Given the description of an element on the screen output the (x, y) to click on. 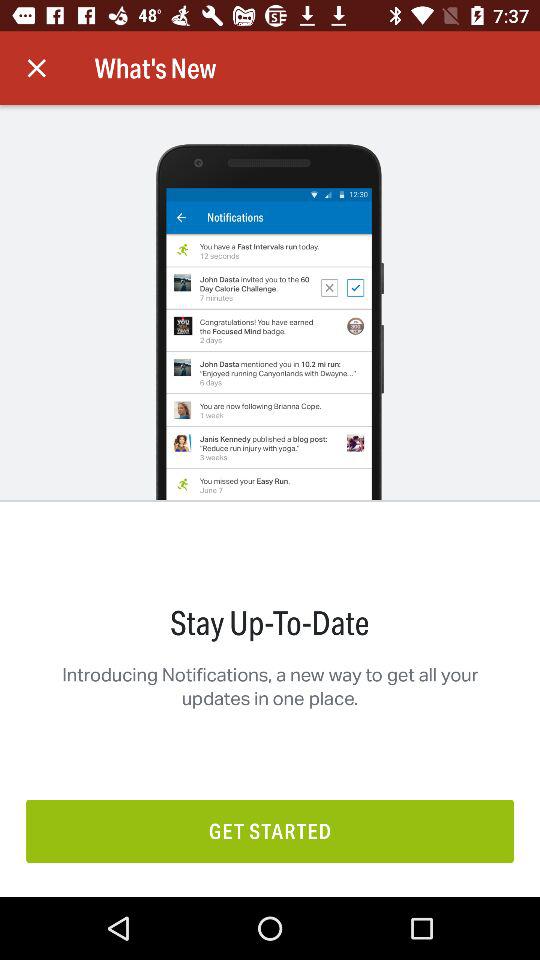
flip to the get started icon (269, 830)
